Given the description of an element on the screen output the (x, y) to click on. 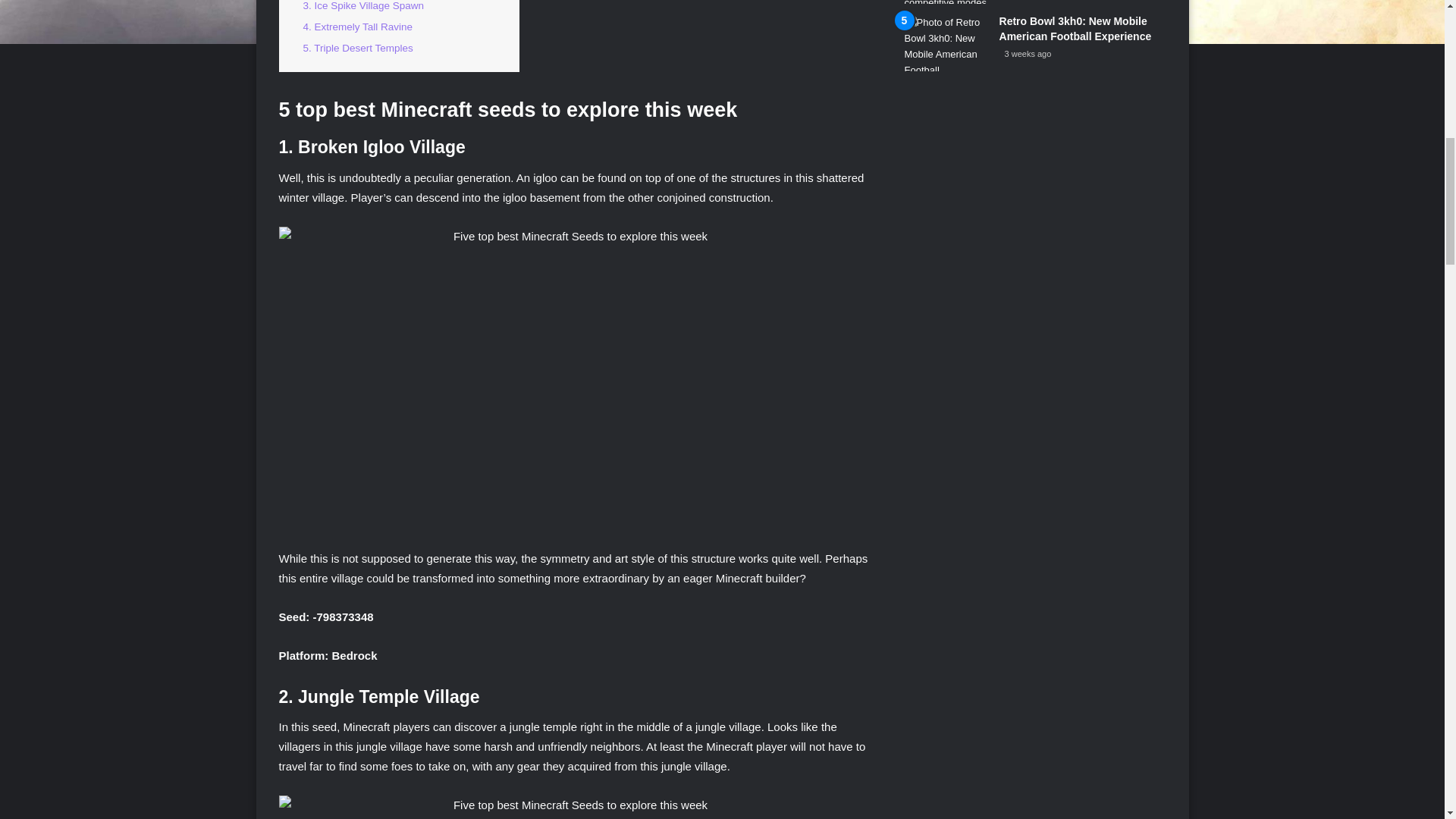
4. Extremely Tall Ravine (357, 26)
5. Triple Desert Temples (357, 48)
3. Ice Spike Village Spawn (363, 5)
